Given the description of an element on the screen output the (x, y) to click on. 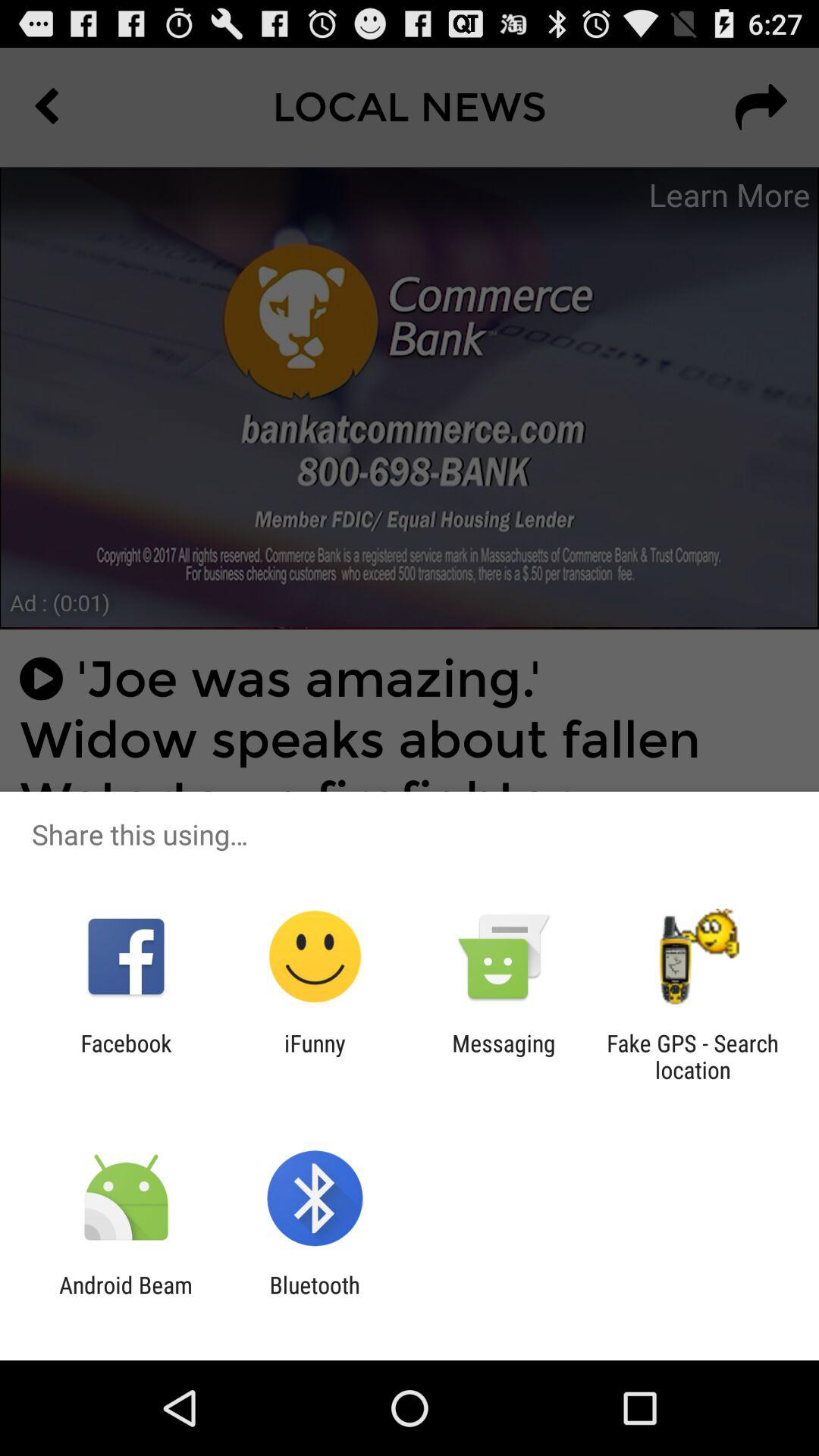
scroll until facebook icon (125, 1056)
